Given the description of an element on the screen output the (x, y) to click on. 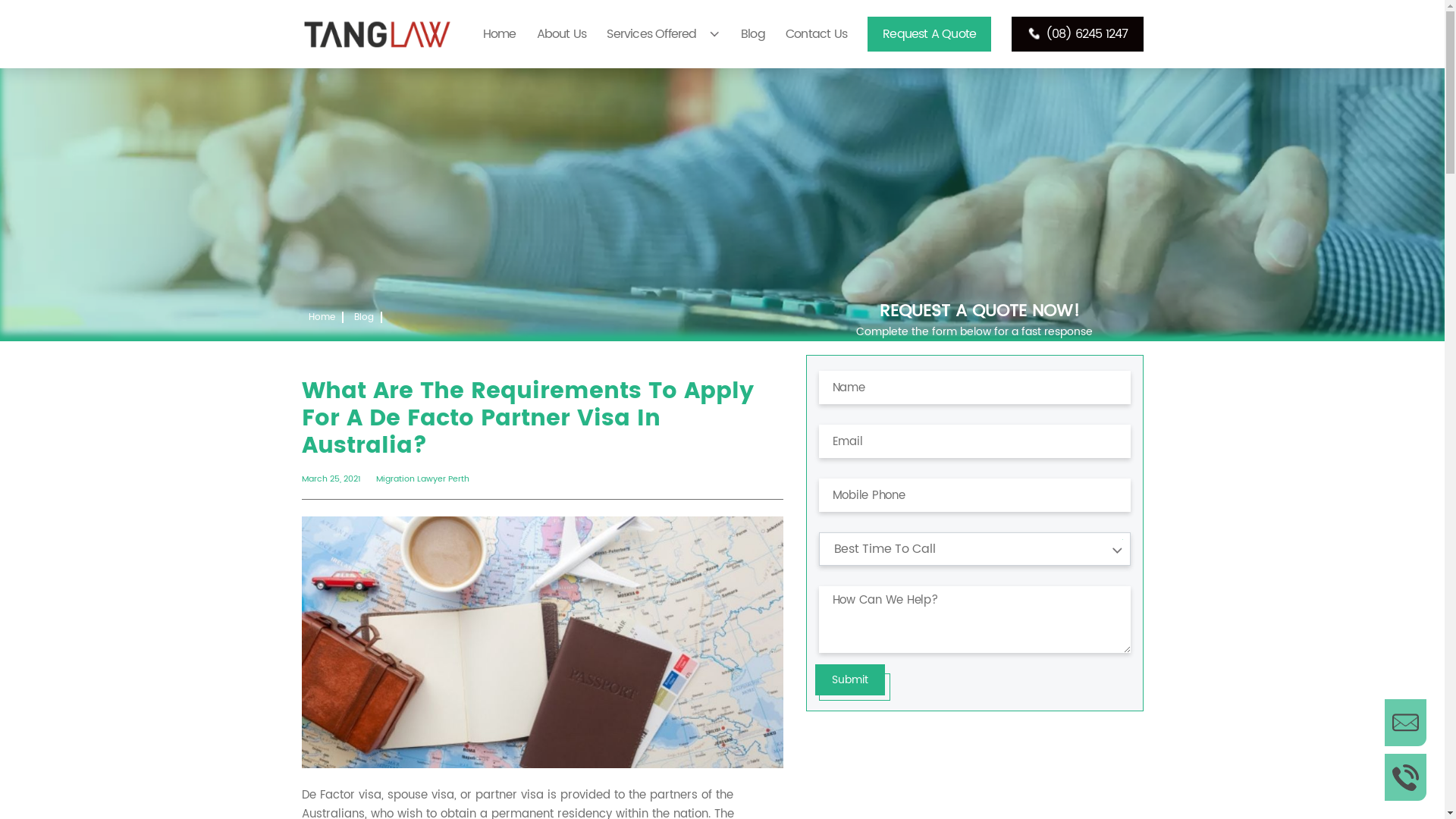
(08) 6245 1247 Element type: text (1076, 33)
Call Us Now Element type: text (1405, 776)
Submit Element type: text (849, 679)
Blog Element type: text (752, 33)
Services Offered Element type: text (651, 33)
Contact Us Element type: text (816, 33)
Enquire Now Element type: text (1405, 722)
Home Element type: text (499, 33)
Request A Quote Element type: text (929, 33)
Blog Element type: text (363, 317)
Home Element type: text (320, 317)
About Us Element type: text (561, 33)
